Given the description of an element on the screen output the (x, y) to click on. 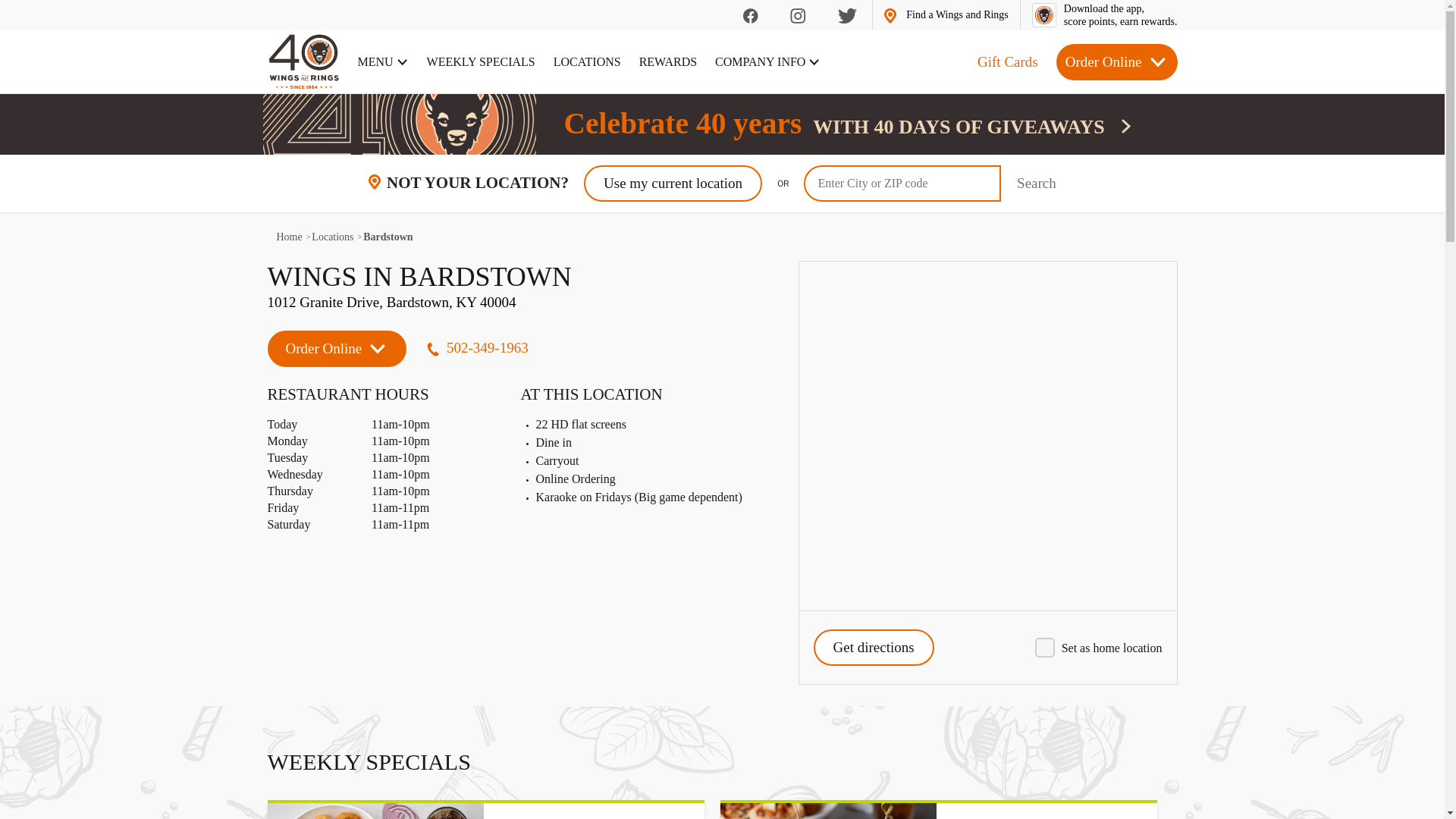
COMPANY INFO (767, 61)
Gift Cards (1007, 60)
MENU (383, 61)
on (521, 323)
Locations (332, 236)
Find a Wings and Rings (1104, 14)
Chicken Wraps (946, 14)
Set as home location (828, 811)
Home (521, 323)
LOCATIONS (288, 236)
WEEKLY SPECIALS (587, 61)
REWARDS (480, 61)
Order Online (668, 61)
